Given the description of an element on the screen output the (x, y) to click on. 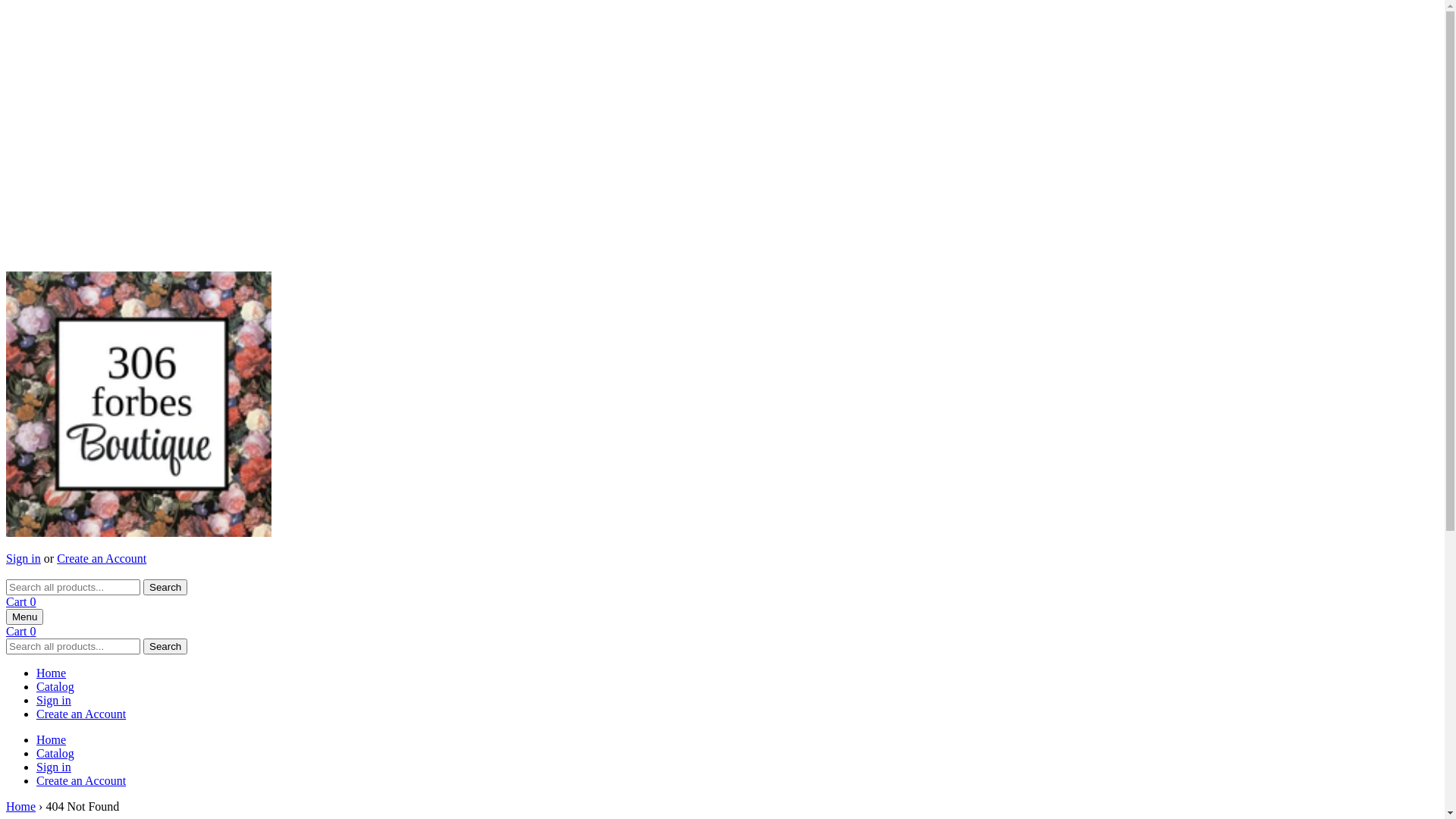
Cart 0 Element type: text (21, 630)
Search Element type: text (165, 646)
Home Element type: text (50, 672)
Catalog Element type: text (55, 686)
Home Element type: text (20, 806)
Create an Account Element type: text (101, 558)
Sign in Element type: text (53, 766)
Catalog Element type: text (55, 752)
Home Element type: text (50, 739)
Sign in Element type: text (53, 699)
Cart 0 Element type: text (21, 601)
Create an Account Element type: text (80, 713)
Menu Element type: text (24, 616)
Create an Account Element type: text (80, 780)
Search Element type: text (165, 587)
Sign in Element type: text (23, 558)
